Given the description of an element on the screen output the (x, y) to click on. 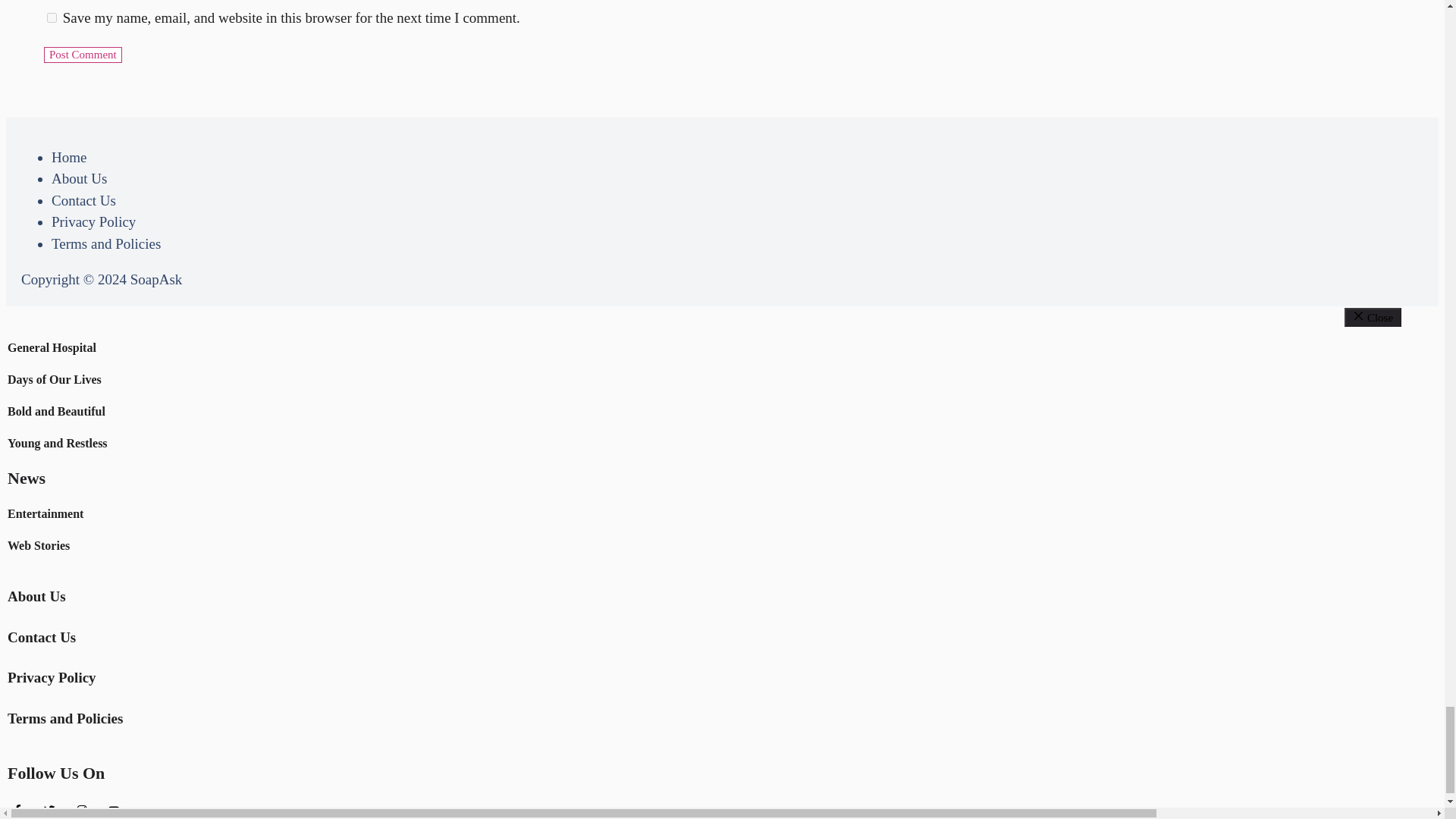
Post Comment (82, 54)
yes (51, 17)
